Given the description of an element on the screen output the (x, y) to click on. 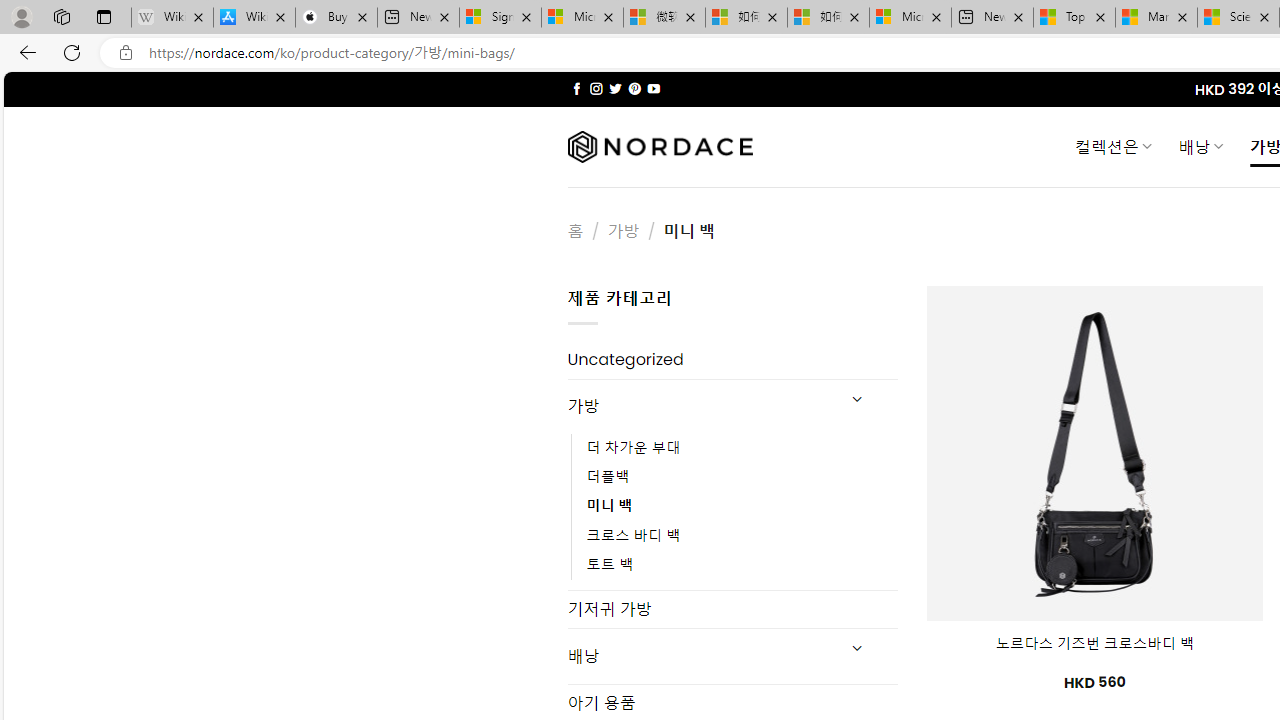
Marine life - MSN (1156, 17)
Follow on Instagram (596, 88)
Uncategorized (732, 359)
Microsoft account | Account Checkup (910, 17)
Microsoft Services Agreement (582, 17)
